Given the description of an element on the screen output the (x, y) to click on. 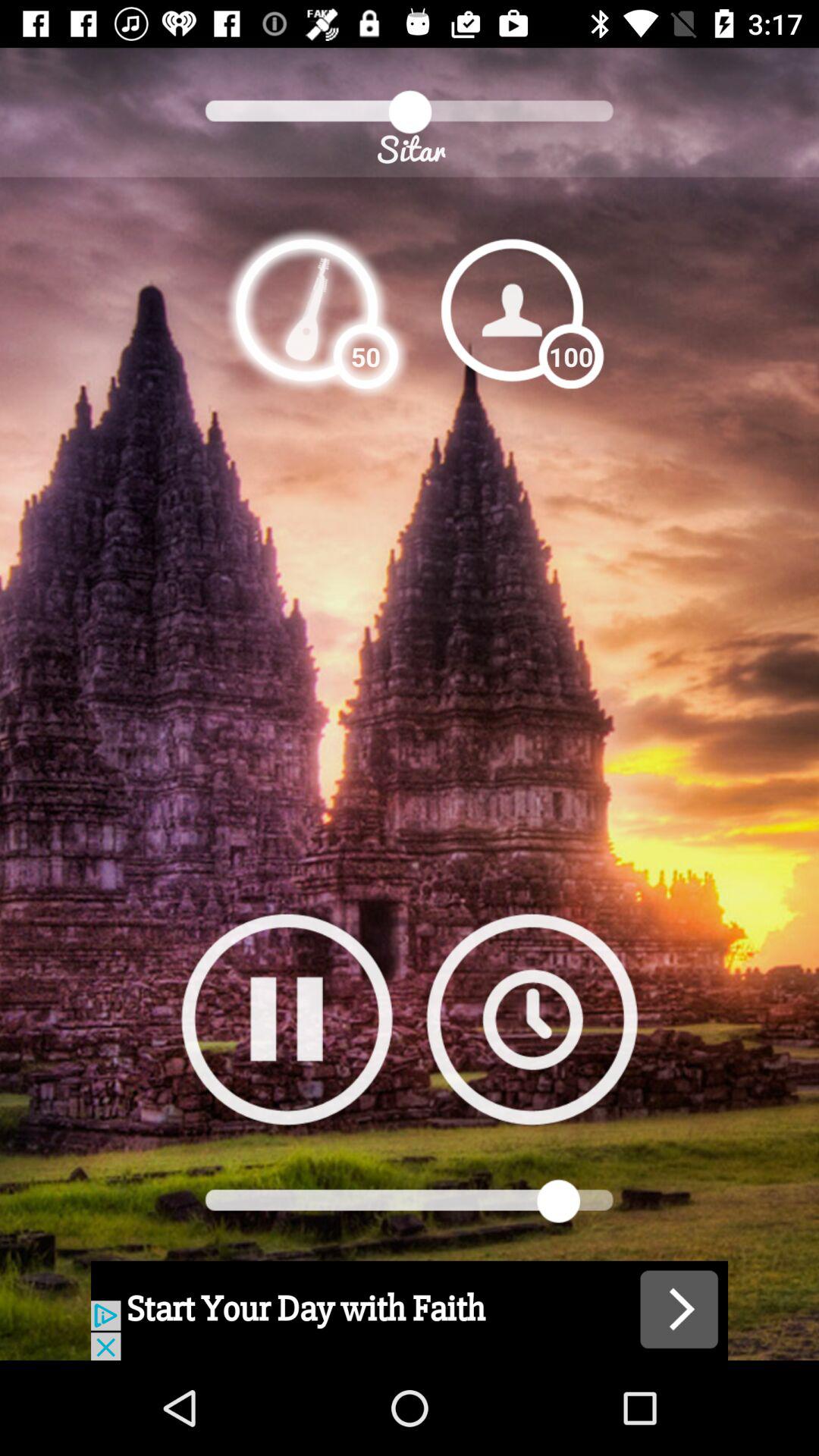
pause option (286, 1018)
